Given the description of an element on the screen output the (x, y) to click on. 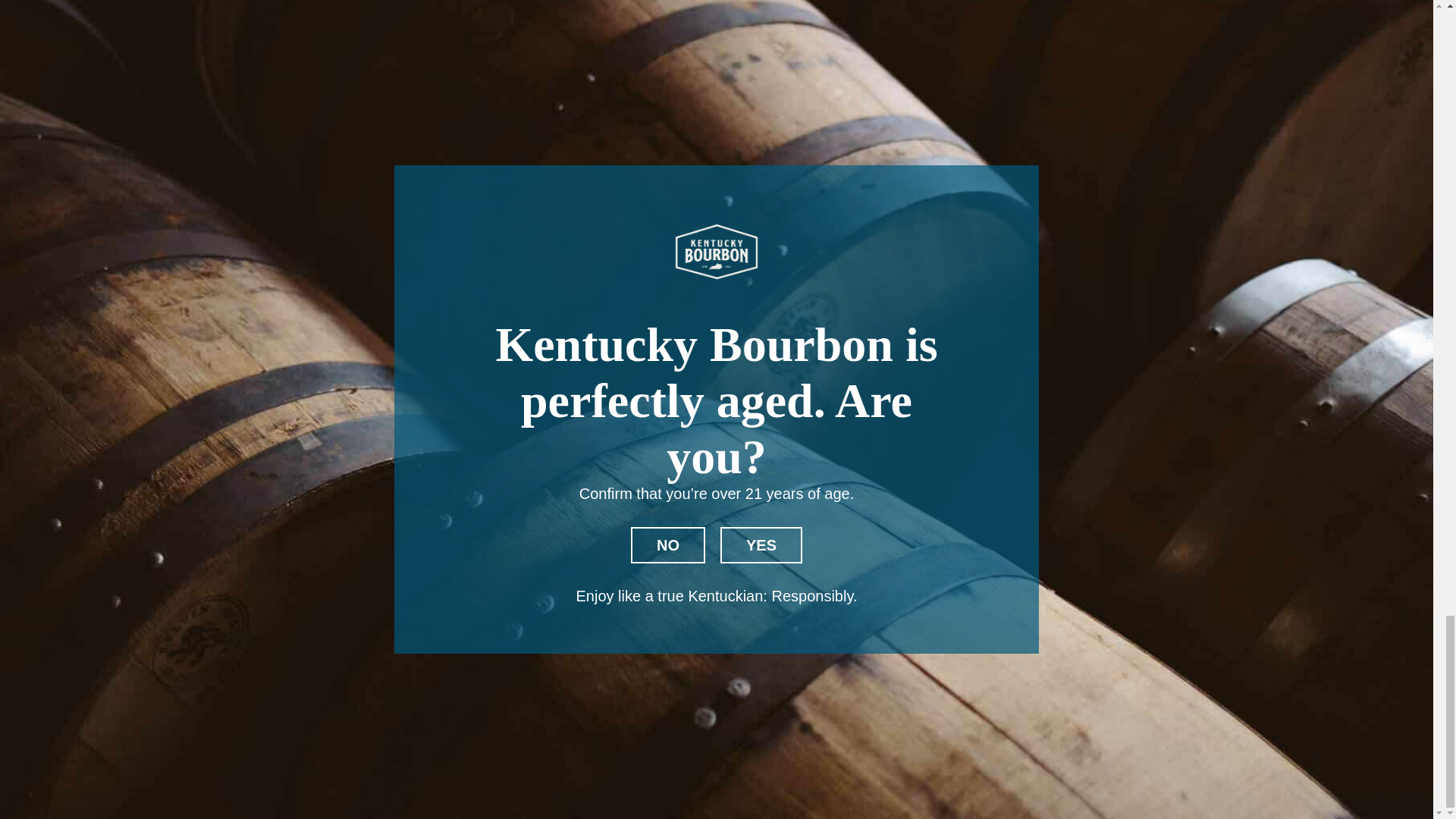
ENTHUSIAST HOME (978, 332)
DISCOVER (944, 350)
ABOUT (1103, 350)
RECIPES (938, 419)
LEGACY (935, 367)
GLOSSARY (946, 437)
STORIES (938, 402)
VISIT (924, 384)
INDUSTRY HOME (1140, 332)
